Given the description of an element on the screen output the (x, y) to click on. 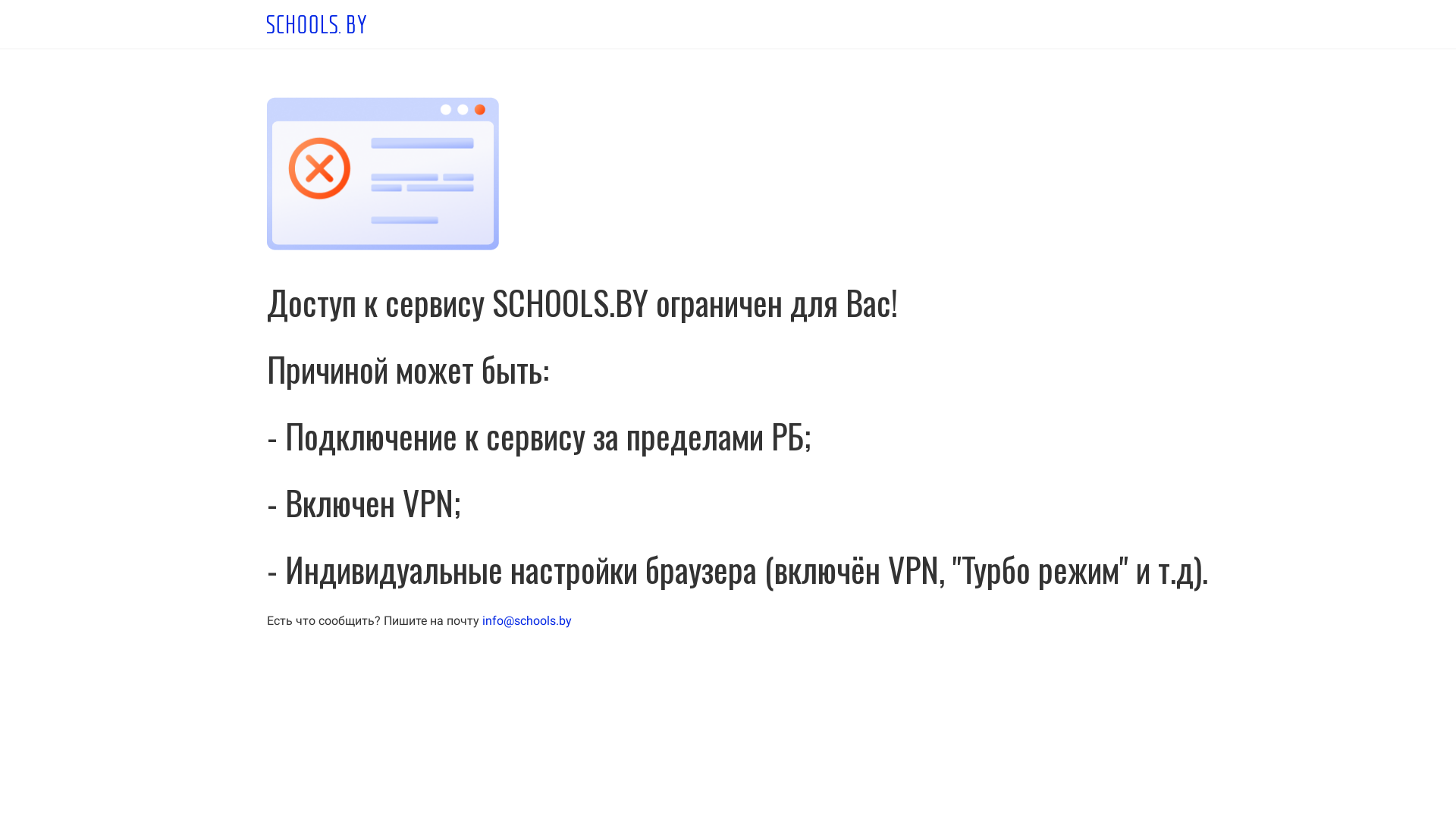
info@schools.by Element type: text (526, 620)
